Given the description of an element on the screen output the (x, y) to click on. 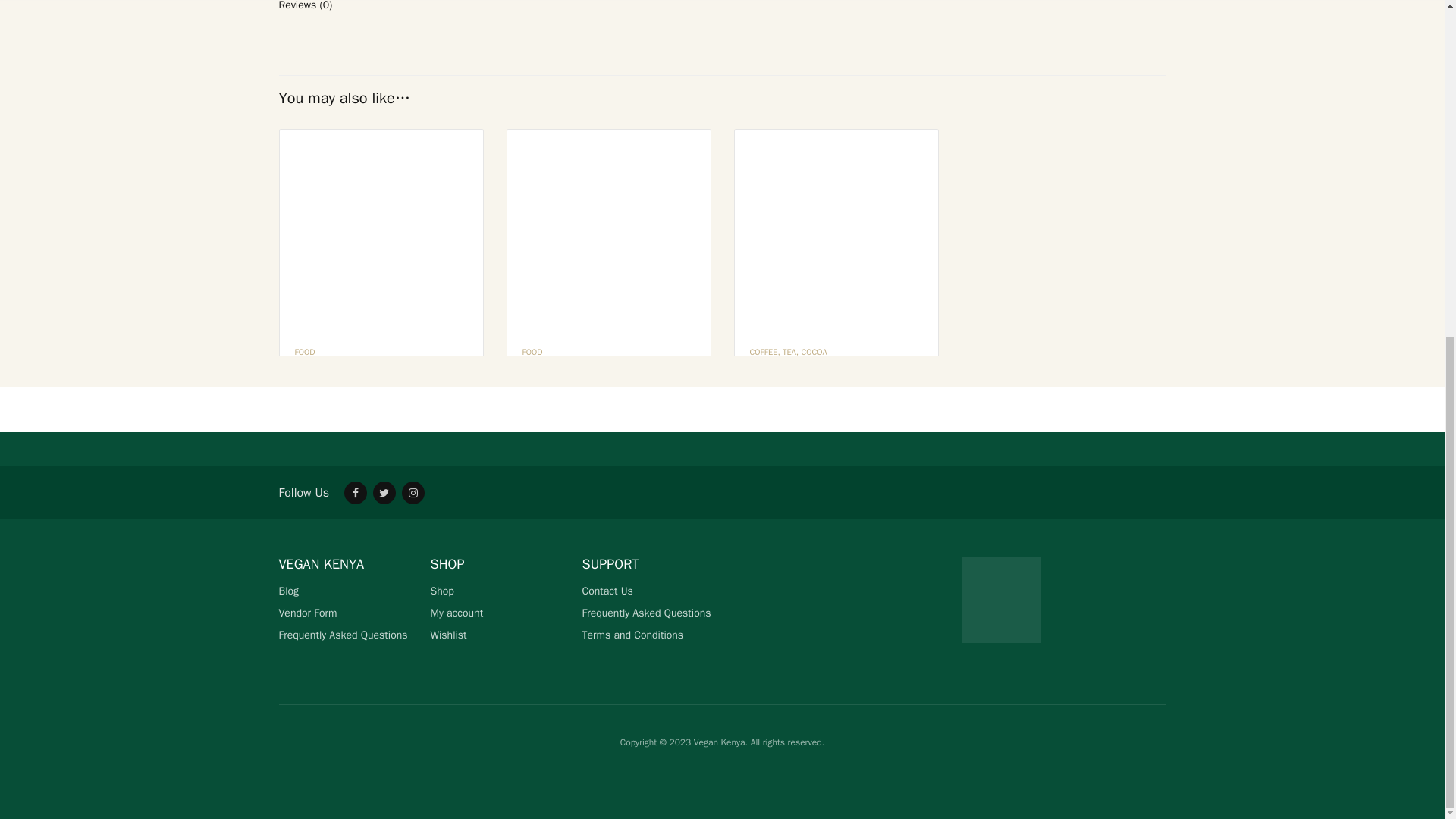
1 (1254, 279)
Navitas Organics Cacao Nibs 113g (493, 37)
Viva Naturals, Organic Cacao Powder, 454g (608, 230)
Matcha Wellness, Organic Matcha Superior Culinary, 30g (380, 230)
